Given the description of an element on the screen output the (x, y) to click on. 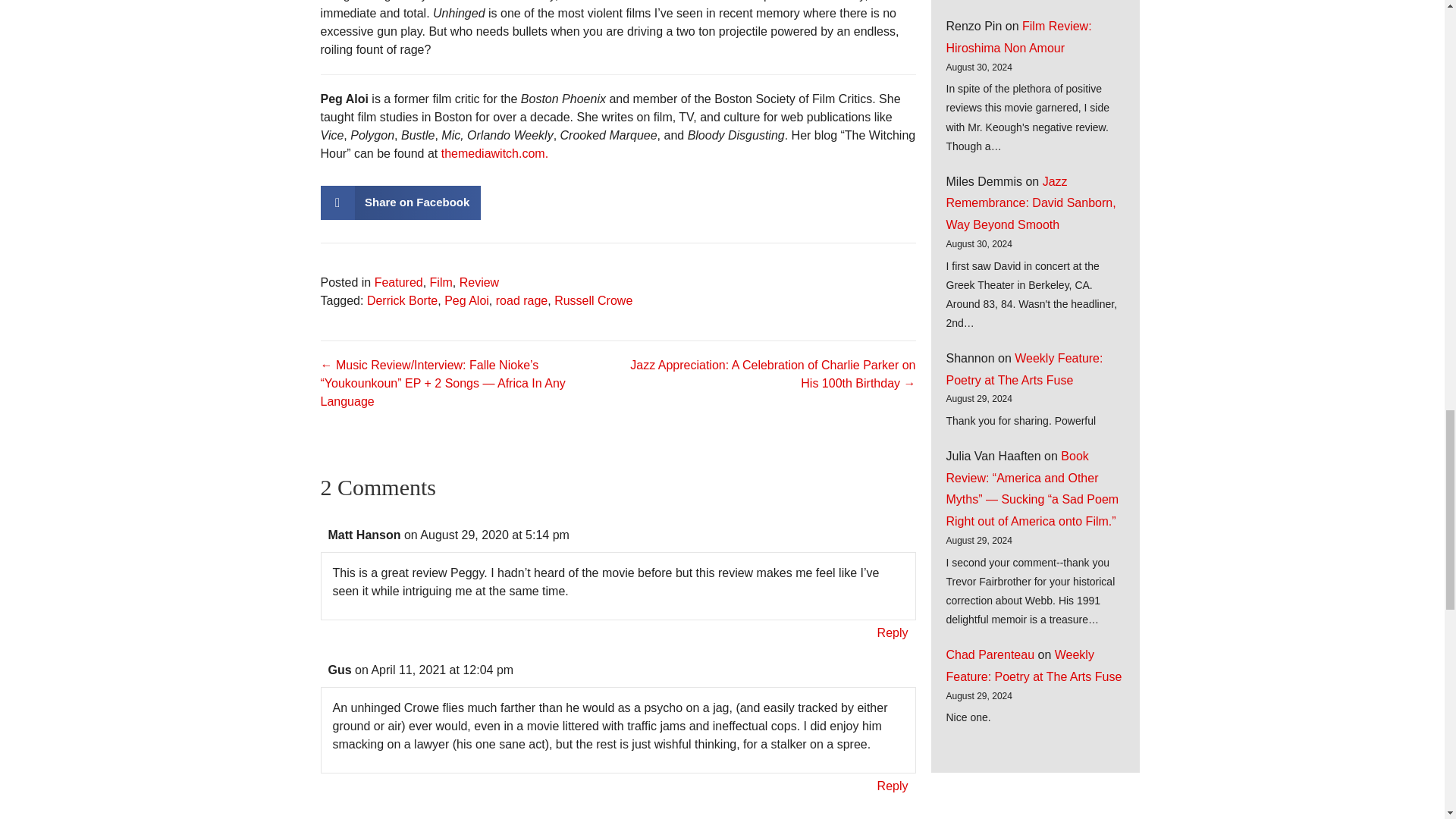
road rage (522, 300)
Derrick Borte (402, 300)
Review (479, 282)
themediawitch.com. (494, 153)
Film (440, 282)
Peg Aloi (466, 300)
Share on Facebook (400, 202)
Russell Crowe (592, 300)
Featured (398, 282)
